Given the description of an element on the screen output the (x, y) to click on. 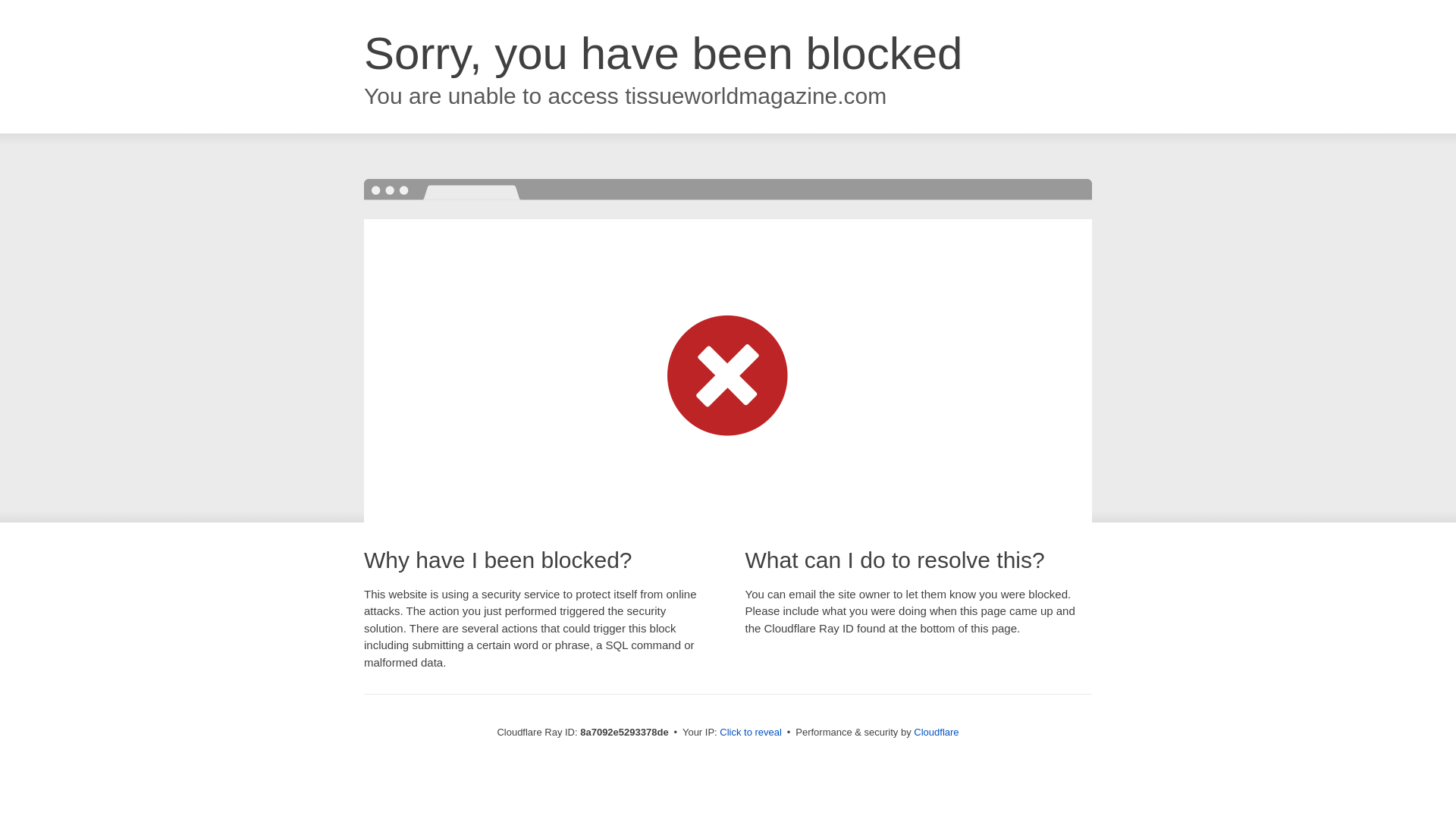
Click to reveal (750, 732)
Cloudflare (936, 731)
